Given the description of an element on the screen output the (x, y) to click on. 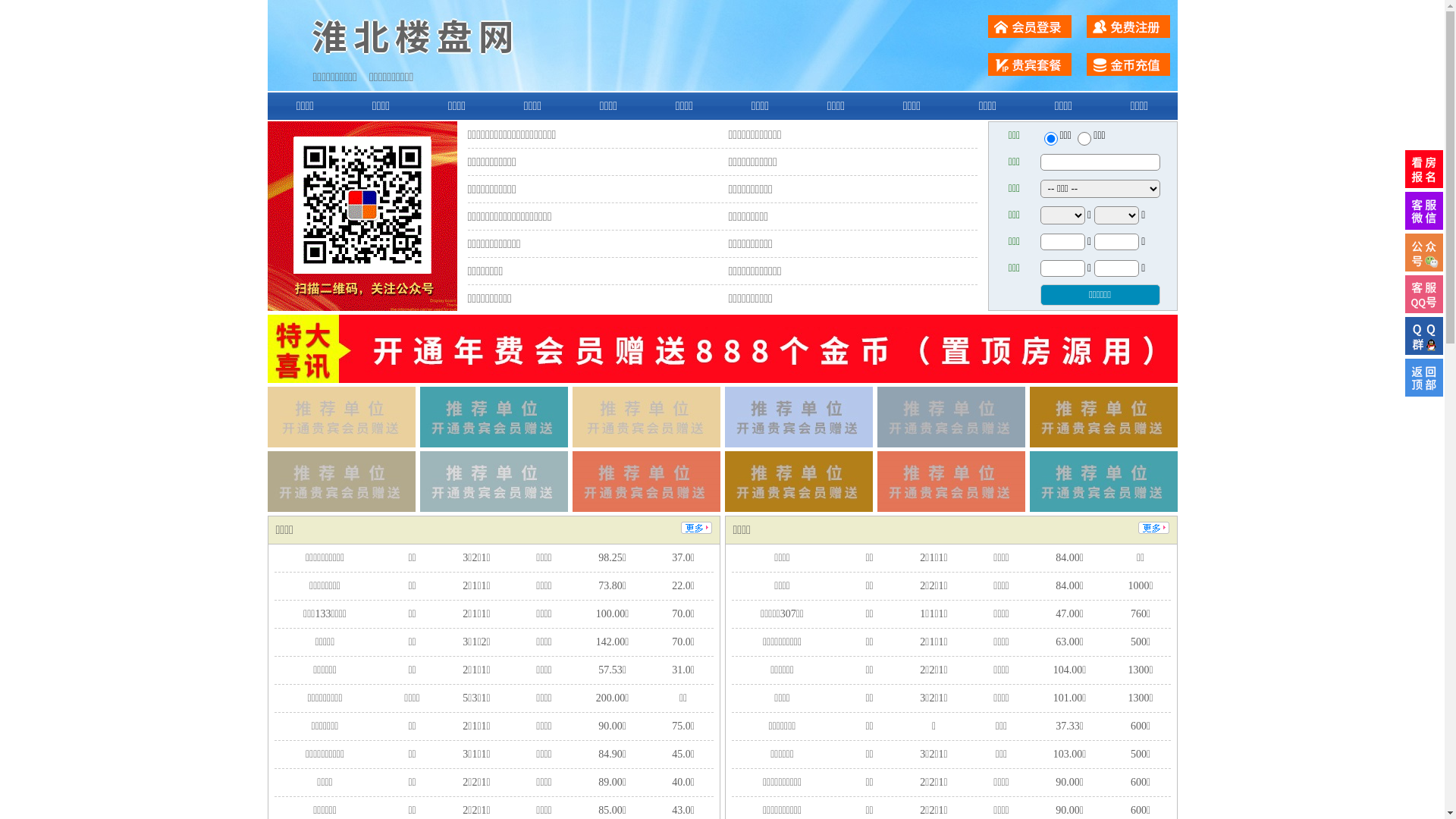
chuzu Element type: text (1084, 138)
ershou Element type: text (1050, 138)
